Given the description of an element on the screen output the (x, y) to click on. 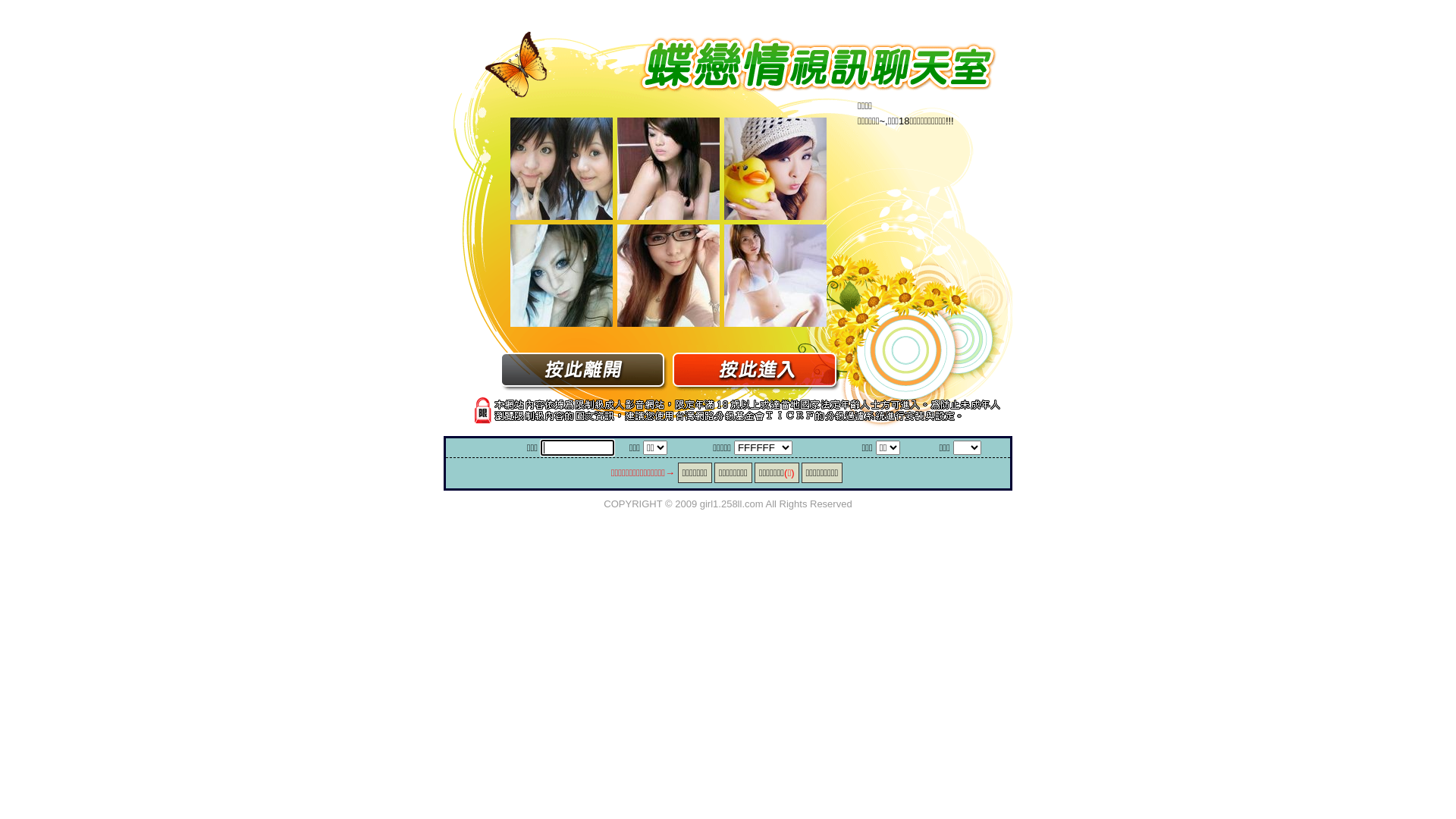
girl1.258ll.com Element type: text (731, 502)
